Given the description of an element on the screen output the (x, y) to click on. 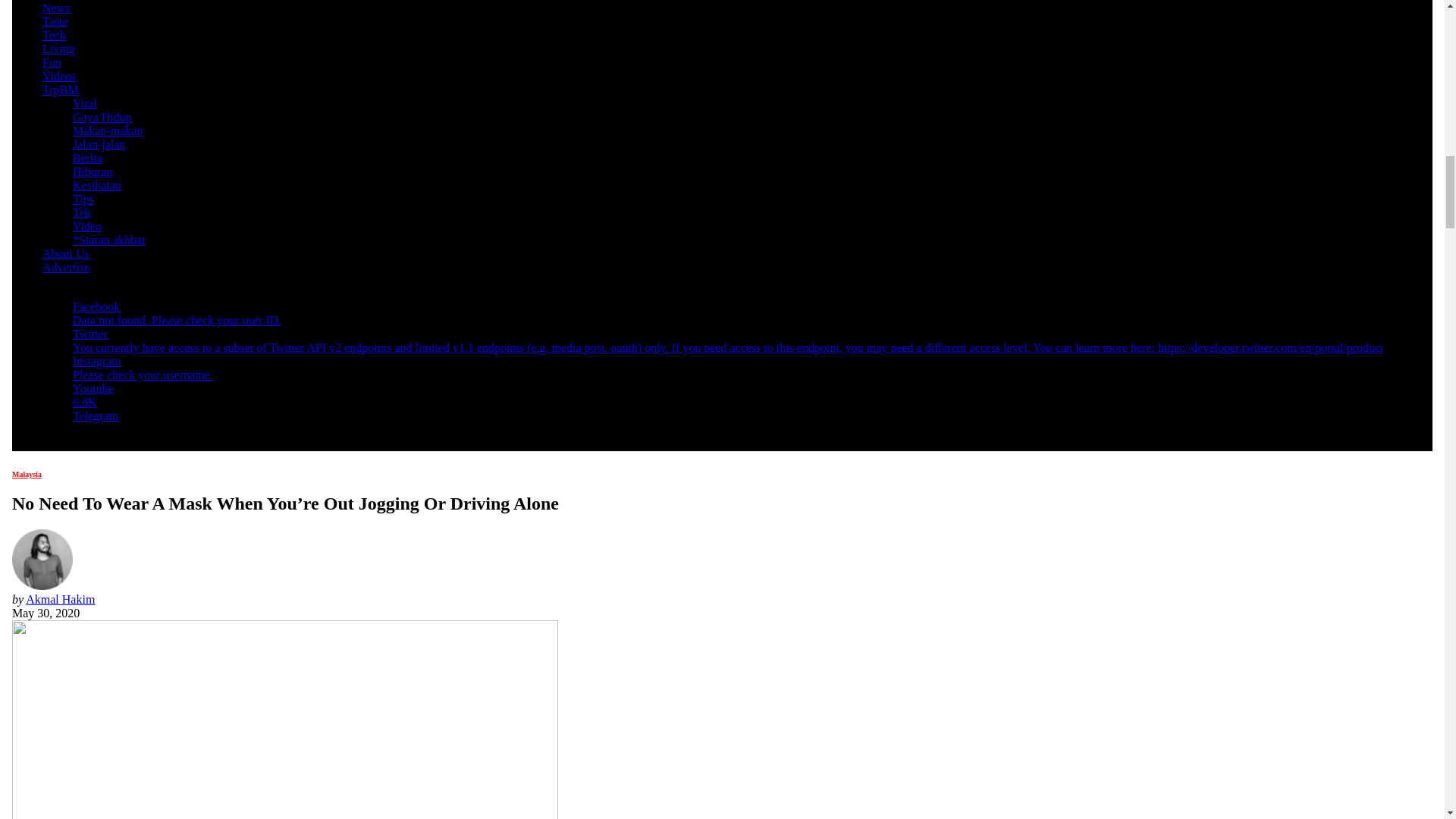
Jalan-jalan (98, 144)
Advertise (65, 267)
Video (86, 226)
Viral (84, 103)
Living (58, 48)
Posts by Akmal Hakim (60, 599)
News (55, 7)
Kesihatan (96, 185)
About Us (65, 253)
Akmal Hakim (60, 599)
Makan-makan (107, 130)
Hiburan (92, 171)
Videos (58, 75)
Tips (83, 198)
Malaysia (26, 474)
